Given the description of an element on the screen output the (x, y) to click on. 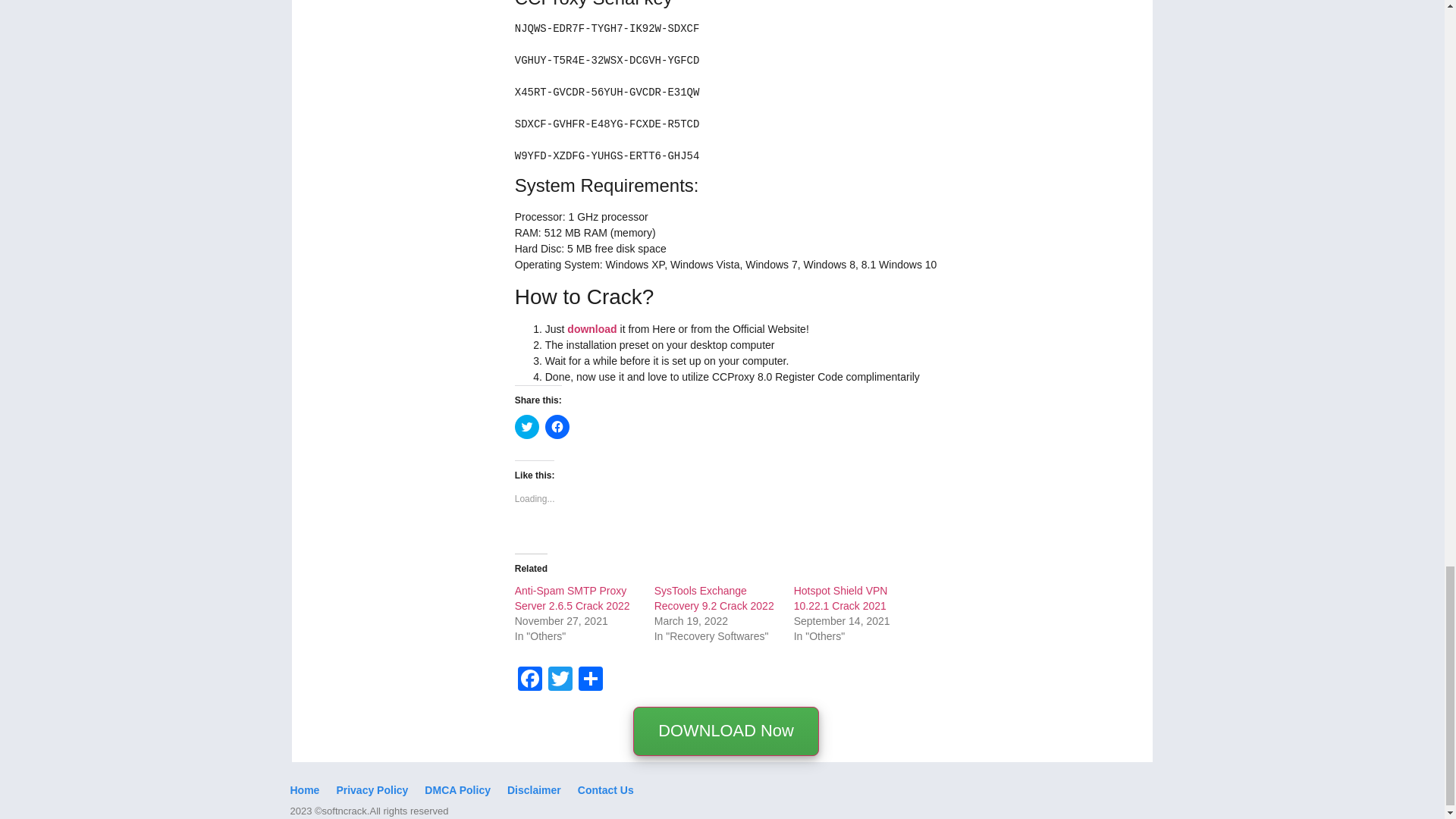
Hotspot Shield VPN 10.22.1 Crack 2021 (840, 597)
Click to share on Twitter (526, 426)
Twitter (559, 680)
Facebook (529, 680)
Anti-Spam SMTP Proxy Server 2.6.5 Crack 2022 (572, 597)
SysTools Exchange Recovery 9.2 Crack 2022 (713, 597)
Click to share on Facebook (556, 426)
